Given the description of an element on the screen output the (x, y) to click on. 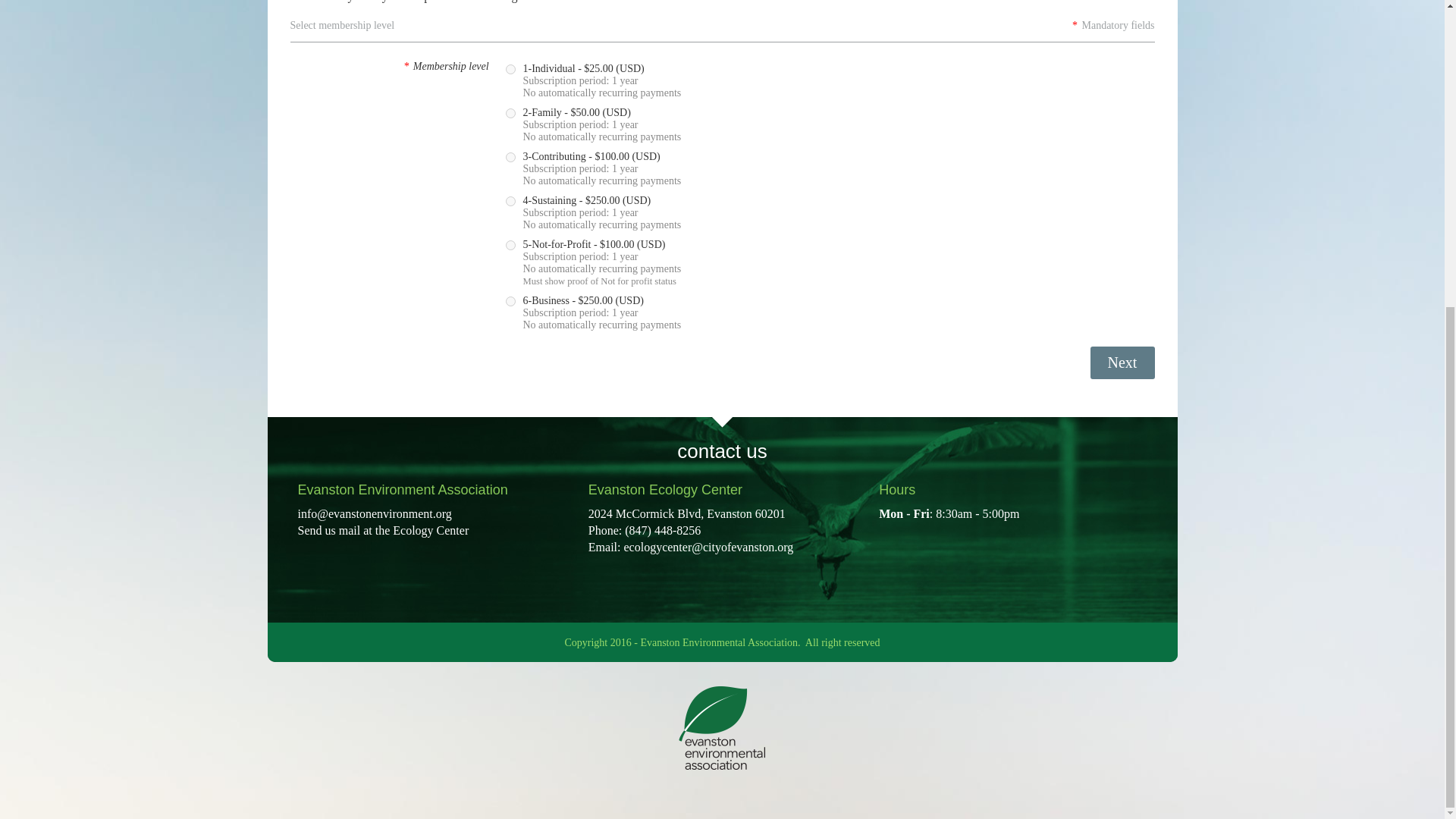
Next (1122, 362)
